Given the description of an element on the screen output the (x, y) to click on. 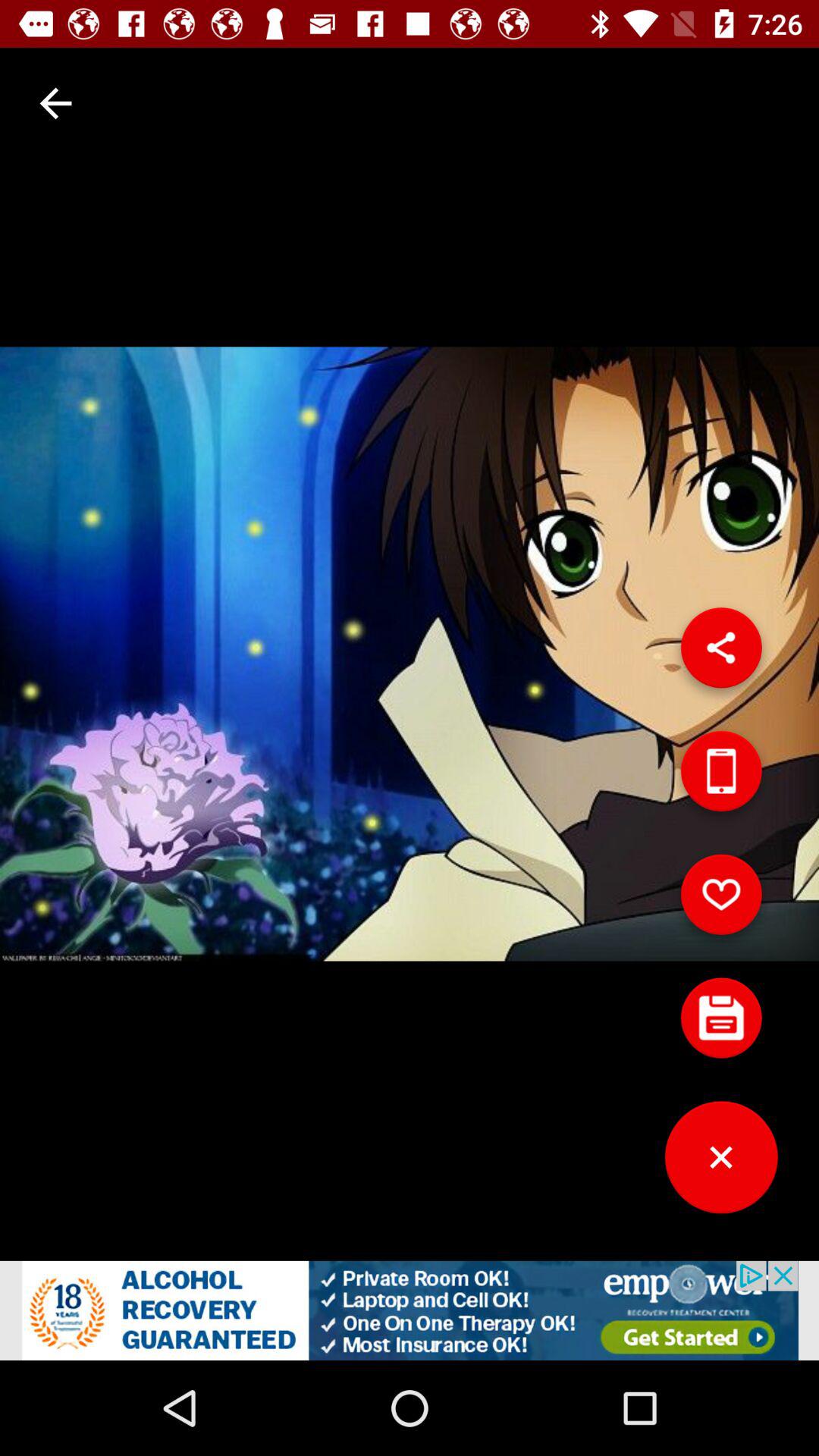
save the picture (721, 1023)
